Given the description of an element on the screen output the (x, y) to click on. 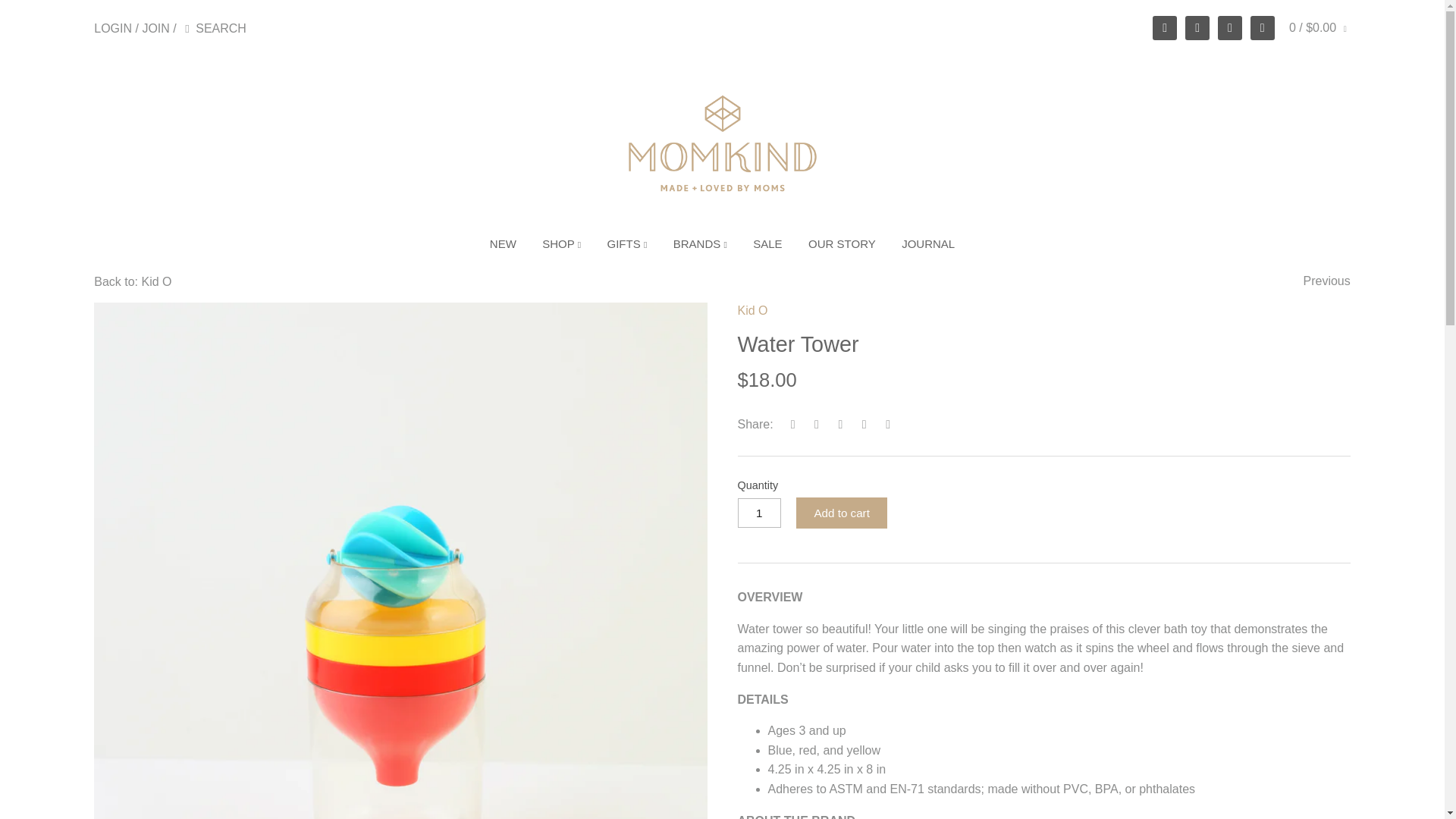
SHOP (561, 246)
BRANDS (700, 246)
Share using email (888, 423)
Instagram (1229, 27)
1 (758, 512)
JOIN (154, 28)
Pinterest (1262, 27)
GIFTS (627, 246)
Facebook (1197, 27)
Twitter (1164, 27)
